Given the description of an element on the screen output the (x, y) to click on. 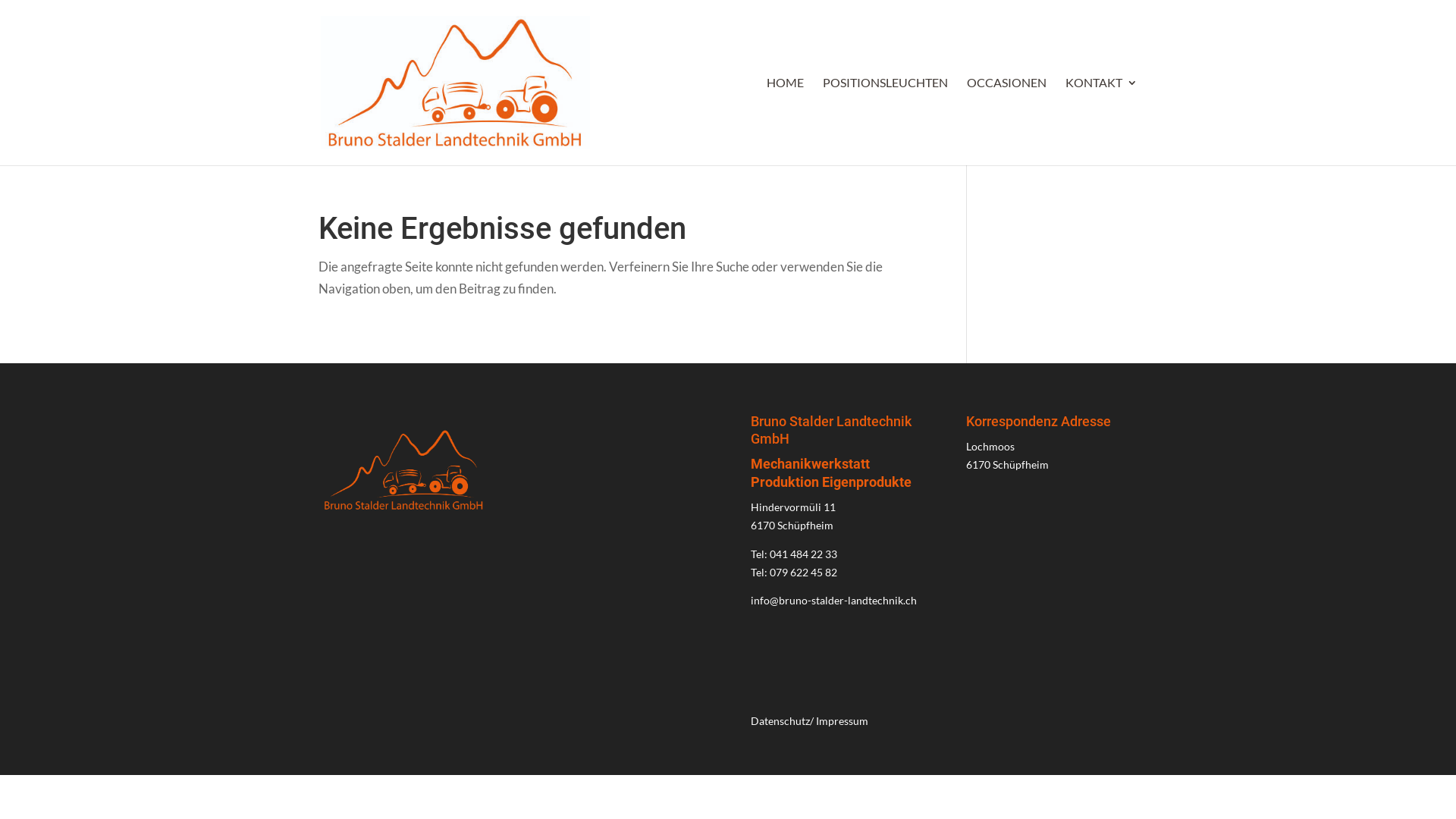
POSITIONSLEUCHTEN Element type: text (884, 121)
info@bruno-stalder-landtechnik.ch Element type: text (833, 599)
OCCASIONEN Element type: text (1006, 121)
HOME Element type: text (784, 121)
Tel: 041 484 22 33 Element type: text (793, 553)
Tel: 079 622 45 82 Element type: text (793, 571)
Datenschutz/ Impressum Element type: text (809, 720)
KONTAKT Element type: text (1101, 121)
